Given the description of an element on the screen output the (x, y) to click on. 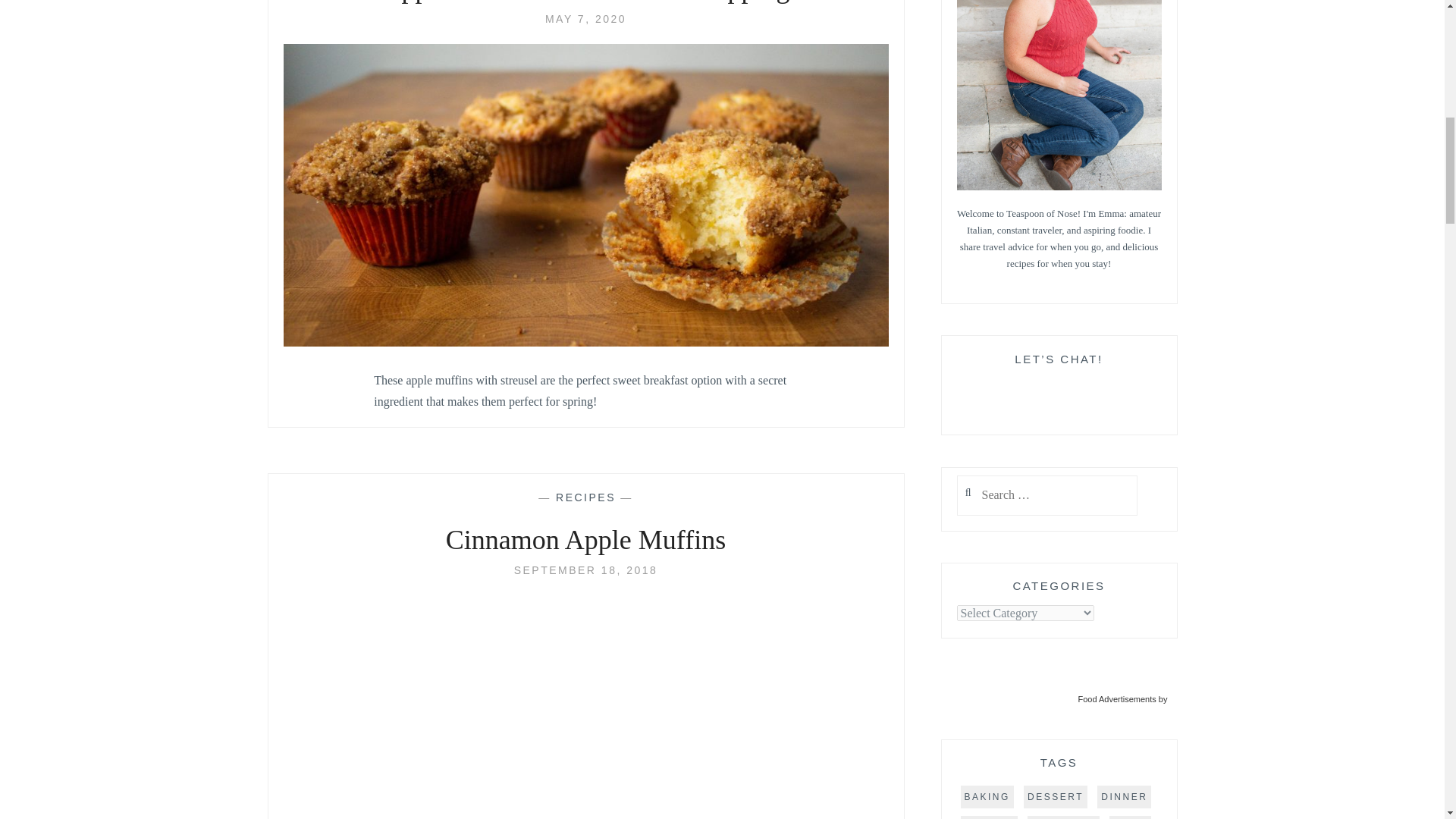
Apple Muffins with Streusel Topping (585, 2)
Apple Muffins with Streusel Topping (585, 19)
MAY 7, 2020 (585, 19)
SEPTEMBER 18, 2018 (585, 570)
Apple Muffins with Streusel Topping (585, 341)
Cinnamon Apple Muffins (585, 540)
Cinnamon Apple Muffins (585, 570)
RECIPES (585, 497)
